Given the description of an element on the screen output the (x, y) to click on. 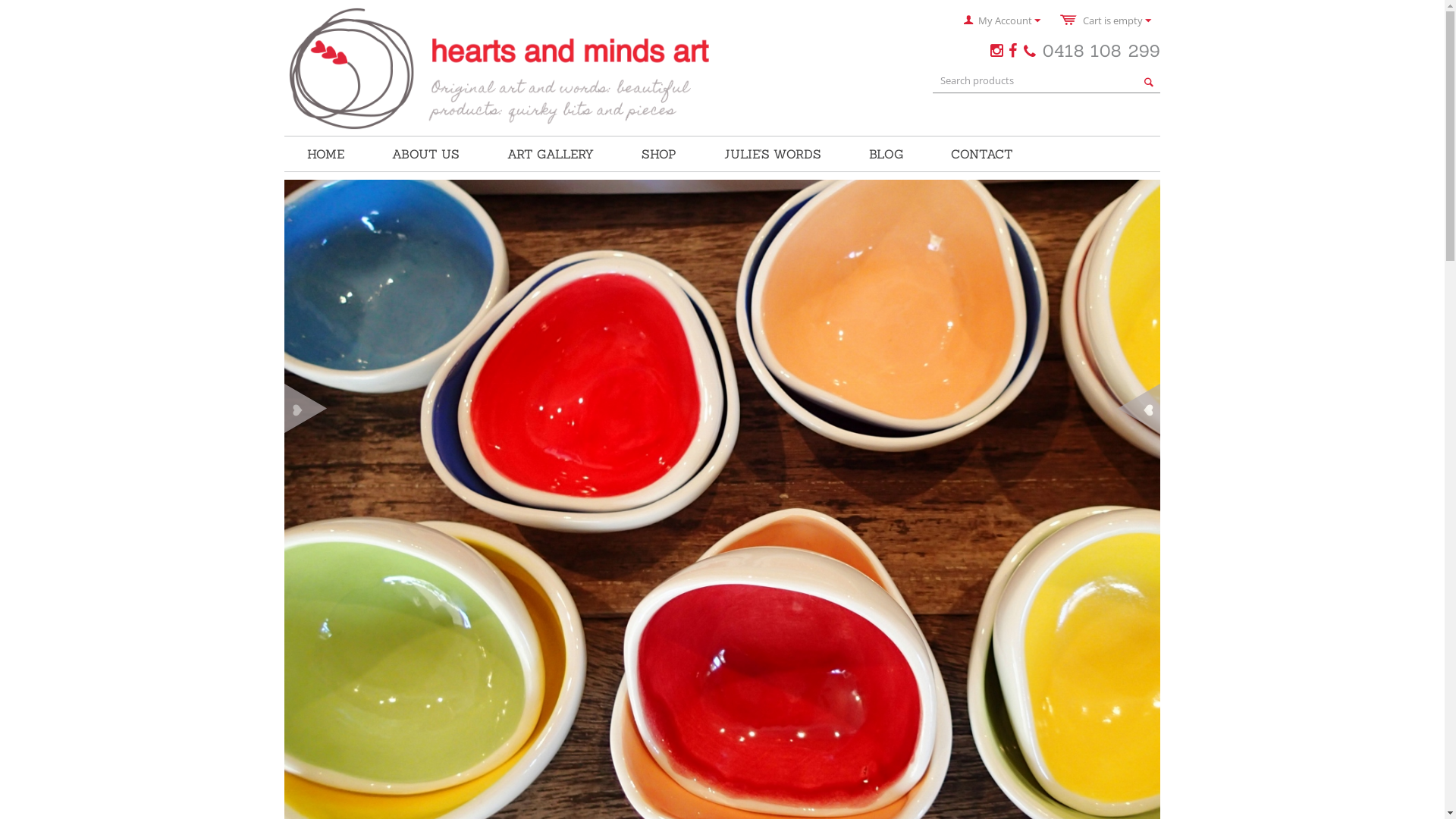
SHOP Element type: text (658, 153)
HOME Element type: text (325, 153)
BLOG Element type: text (885, 153)
Facebook Element type: text (1013, 50)
ABOUT US Element type: text (425, 153)
Search products Element type: hover (1046, 80)
Cart is empty Element type: text (1105, 20)
JULIE'S WORDS Element type: text (772, 153)
ART GALLERY Element type: text (550, 153)
CONTACT Element type: text (981, 153)
Instagram Element type: text (998, 50)
  My Account Element type: text (1002, 20)
Search Element type: hover (1148, 81)
